Given the description of an element on the screen output the (x, y) to click on. 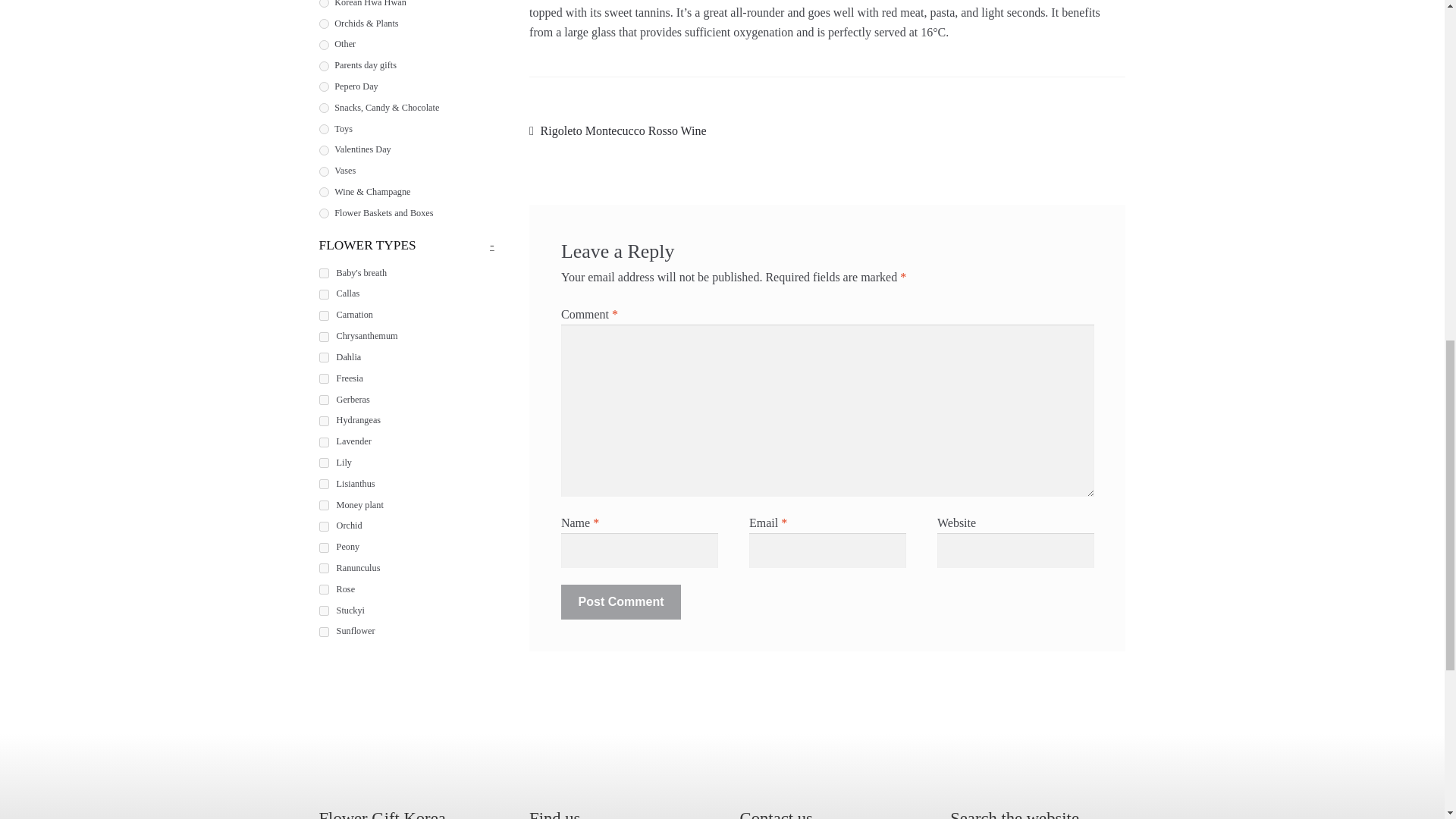
Post Comment (620, 601)
